Given the description of an element on the screen output the (x, y) to click on. 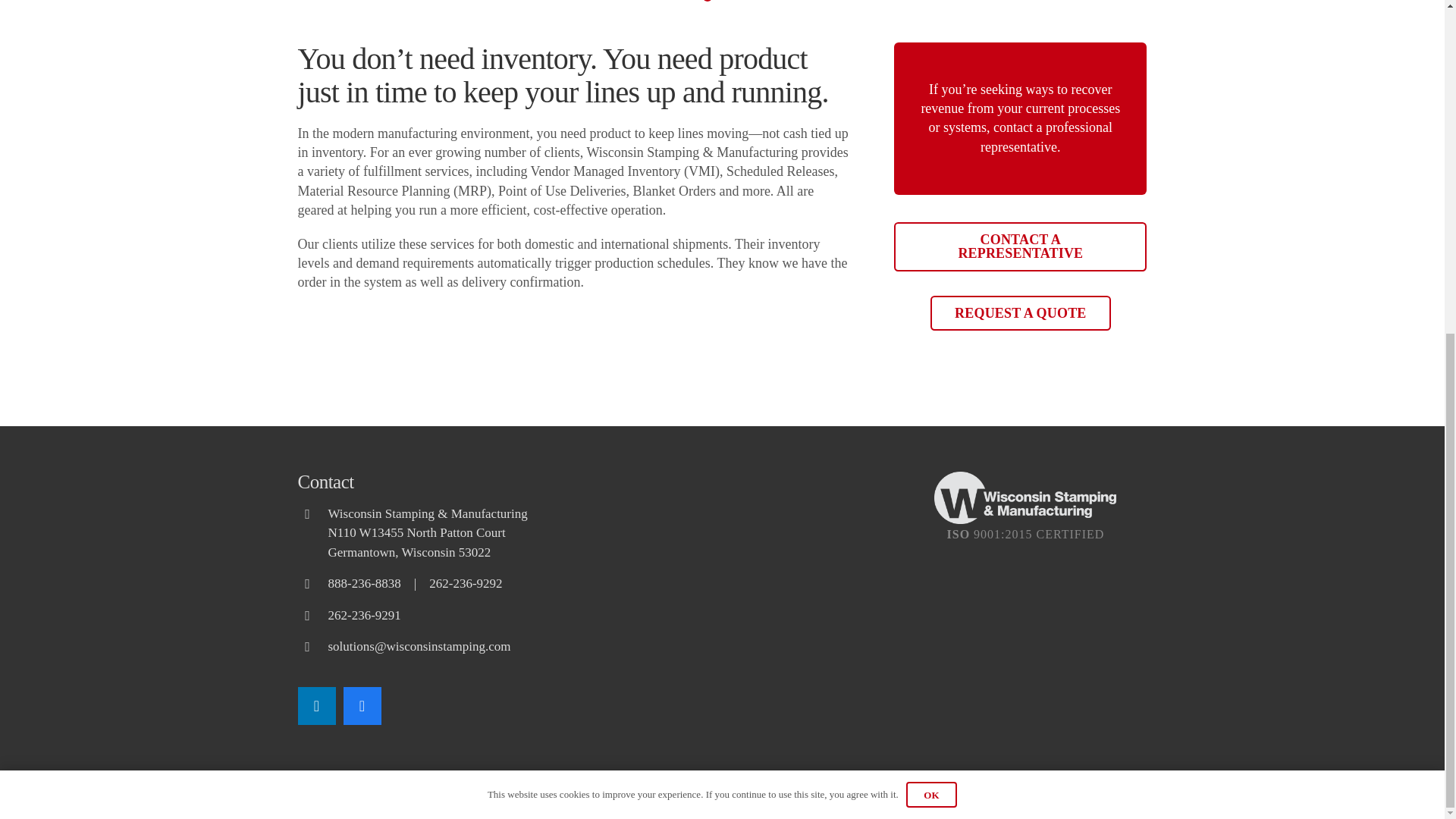
CONTACT A REPRESENTATIVE (1020, 246)
Facebook (361, 705)
LinkedIn (315, 705)
